Given the description of an element on the screen output the (x, y) to click on. 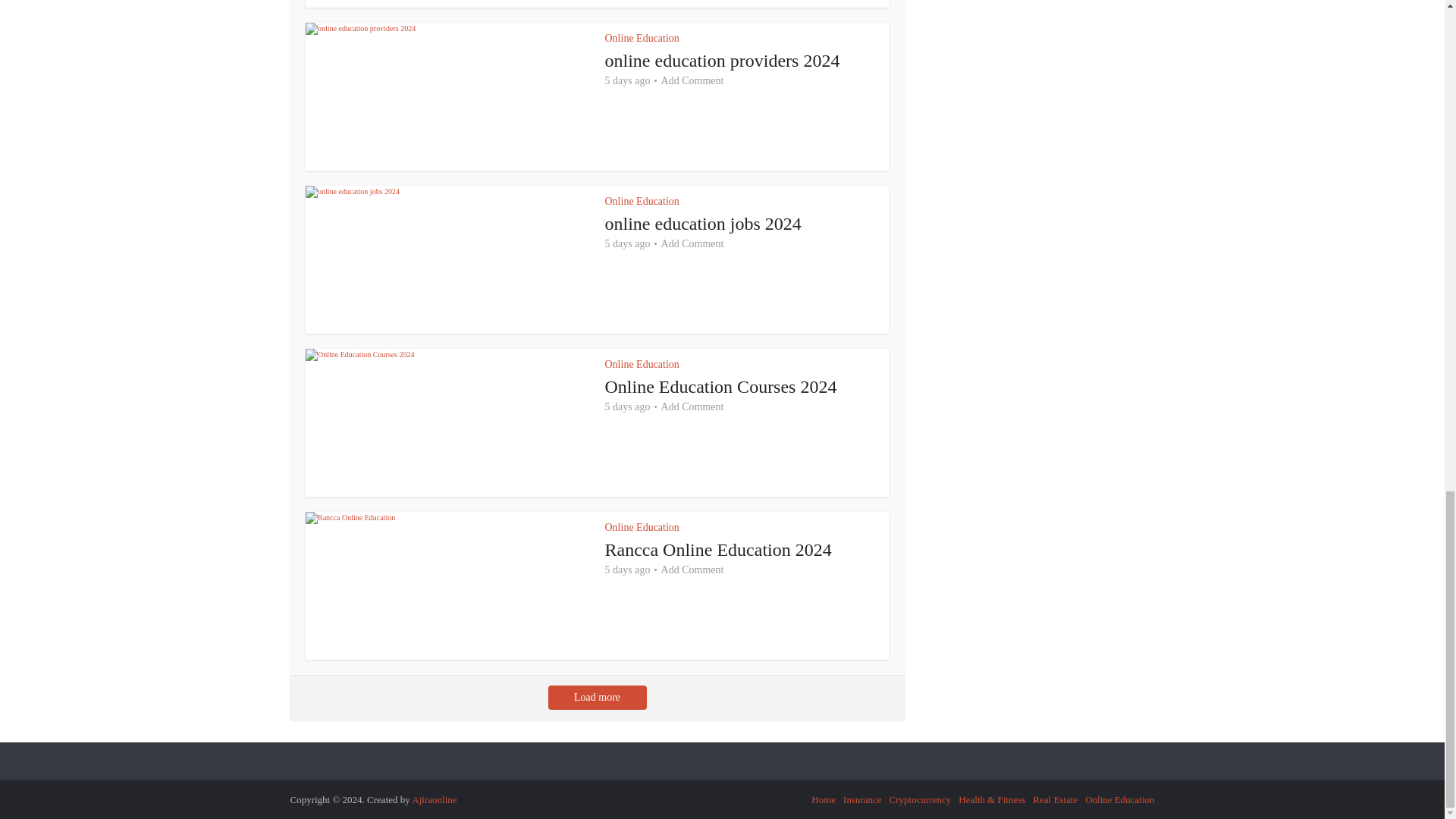
online education jobs 2024 (703, 223)
Add Comment (692, 80)
online education providers 2024 (722, 60)
Online Education (642, 38)
online education providers 2024 (722, 60)
Online Education (642, 201)
